Given the description of an element on the screen output the (x, y) to click on. 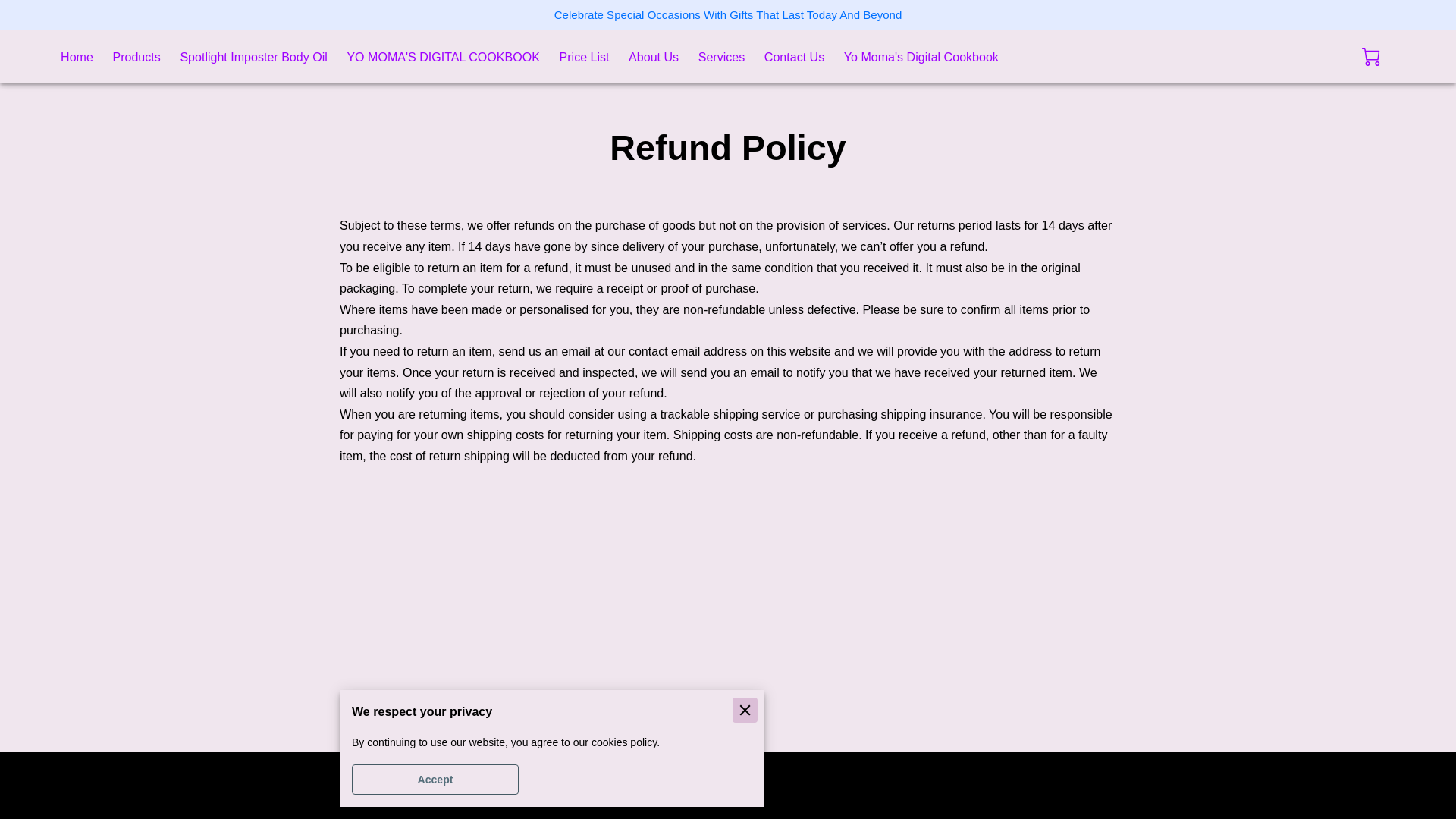
0 (1370, 56)
Accept (435, 779)
Services (721, 57)
Merchant Policies (392, 784)
Legal Notice (503, 784)
About Us (653, 57)
Price List (584, 57)
YO MOMA'S DIGITAL COOKBOOK (443, 57)
Products (136, 57)
Contact Us (794, 57)
Home (77, 57)
Spotlight Imposter Body Oil (252, 57)
Yo Moma's Digital Cookbook (921, 57)
